Given the description of an element on the screen output the (x, y) to click on. 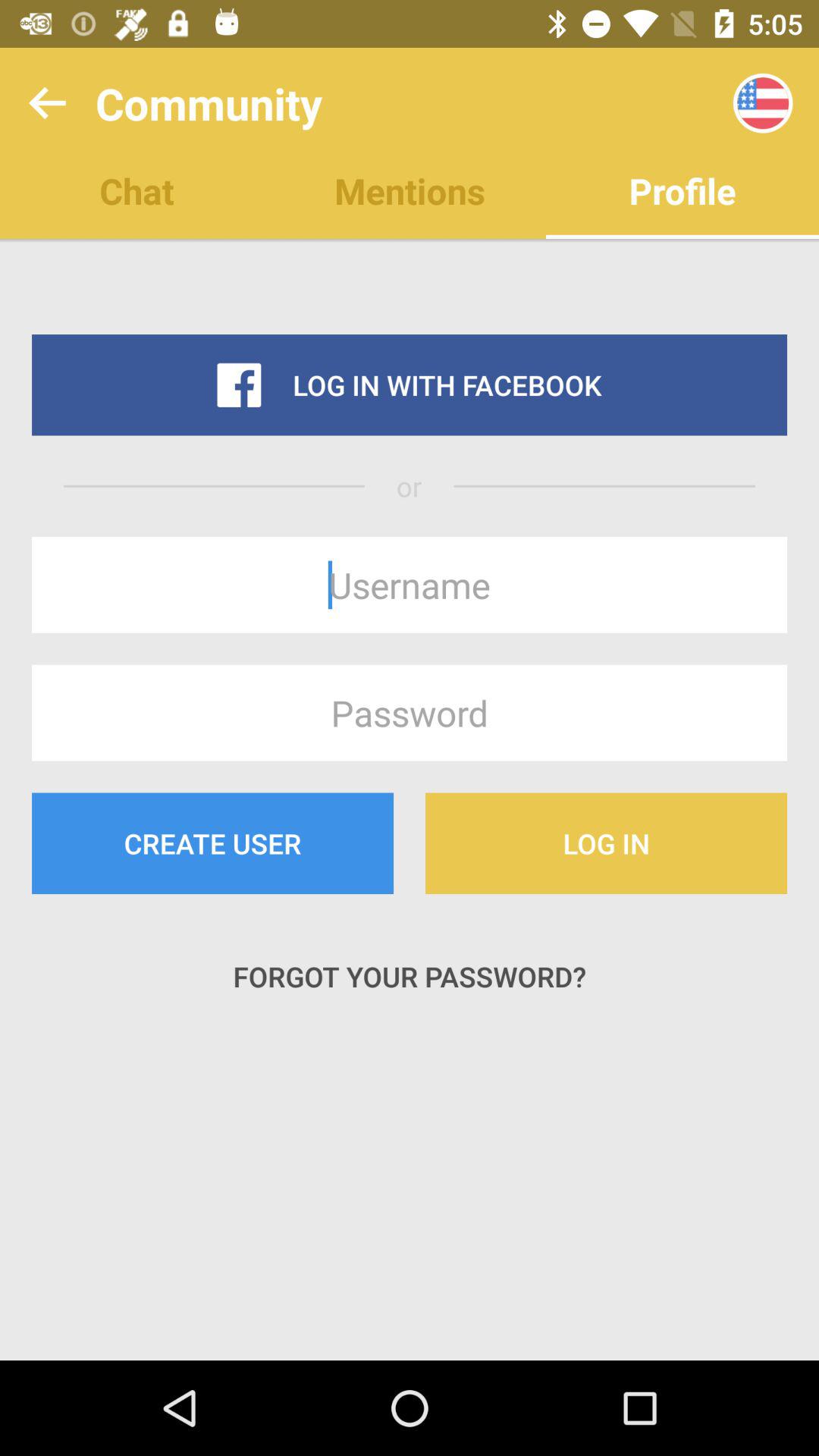
password area (409, 712)
